Given the description of an element on the screen output the (x, y) to click on. 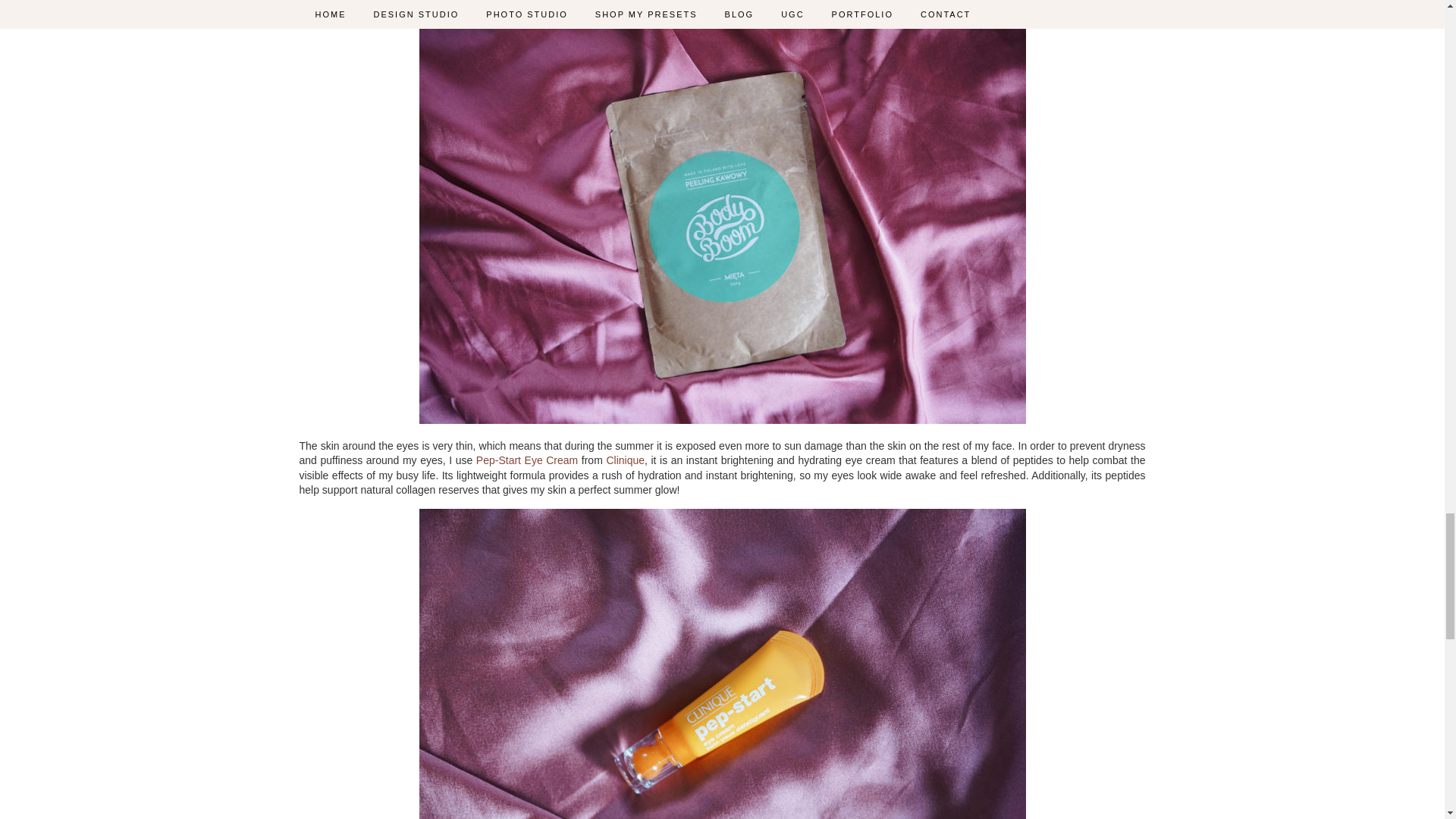
Clinique (625, 460)
Pep-Start Eye Cream (527, 460)
